Given the description of an element on the screen output the (x, y) to click on. 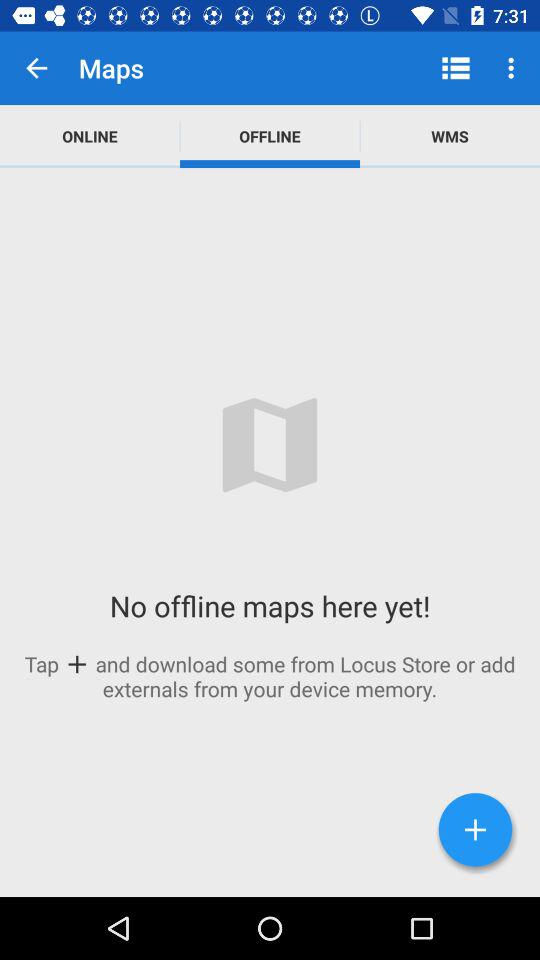
jump to the wms item (450, 136)
